Given the description of an element on the screen output the (x, y) to click on. 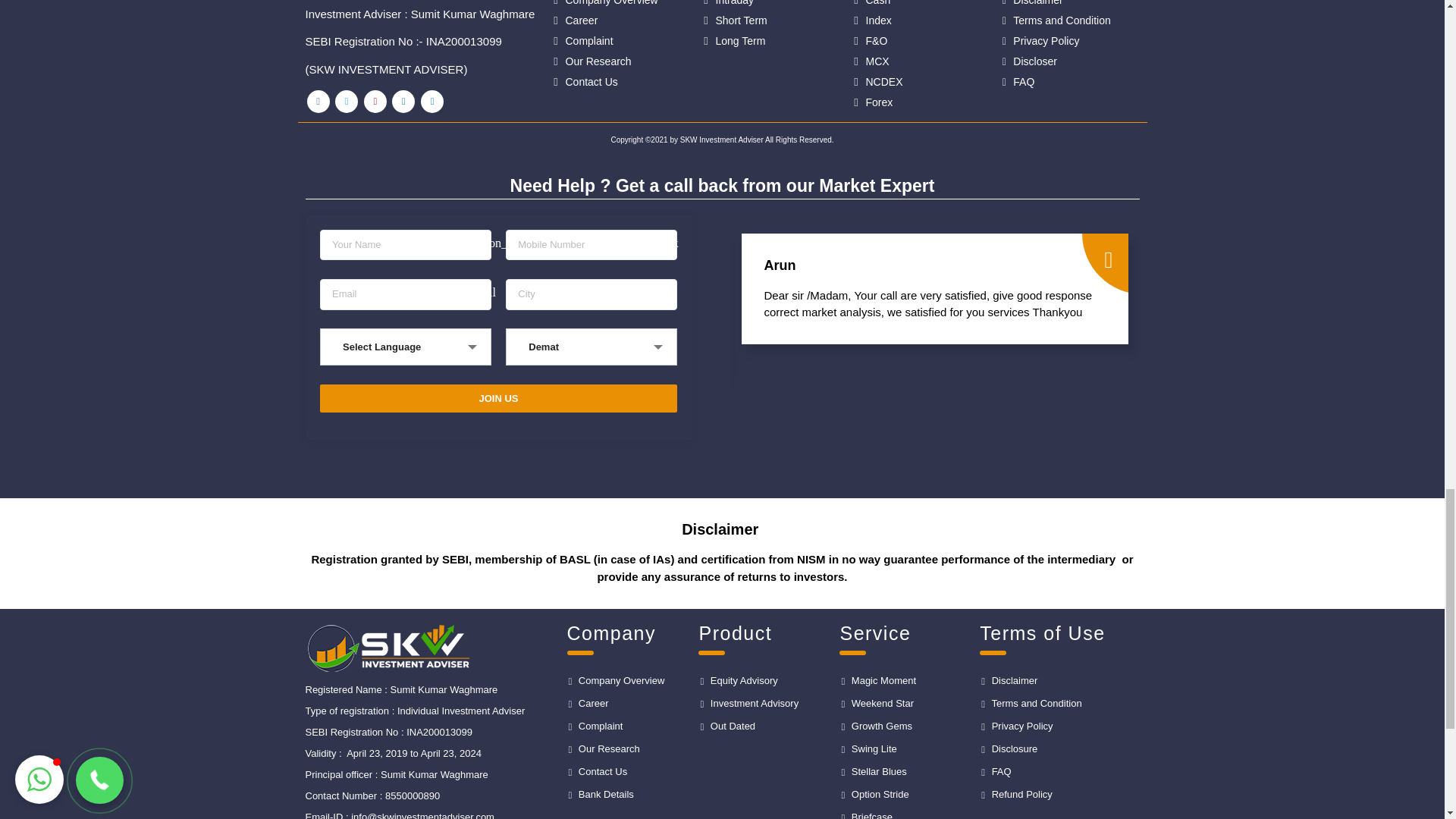
Demat (591, 347)
Select Language (405, 347)
